Given the description of an element on the screen output the (x, y) to click on. 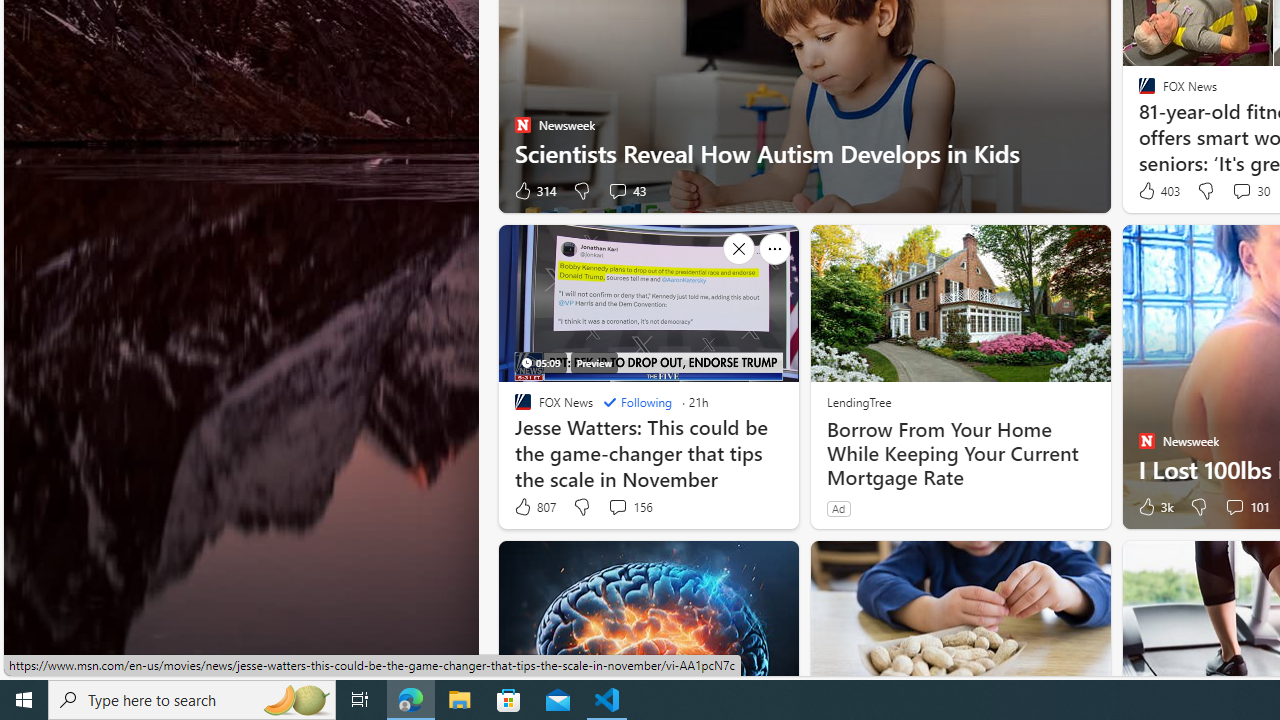
View comments 101 Comment (1246, 507)
Hide this story (738, 564)
403 Like (1157, 191)
LendingTree (858, 401)
View comments 101 Comment (1234, 506)
3k Like (1154, 507)
314 Like (534, 191)
View comments 156 Comment (629, 507)
View comments 43 Comment (626, 191)
View comments 30 Comment (1241, 190)
View comments 30 Comment (1249, 191)
